Given the description of an element on the screen output the (x, y) to click on. 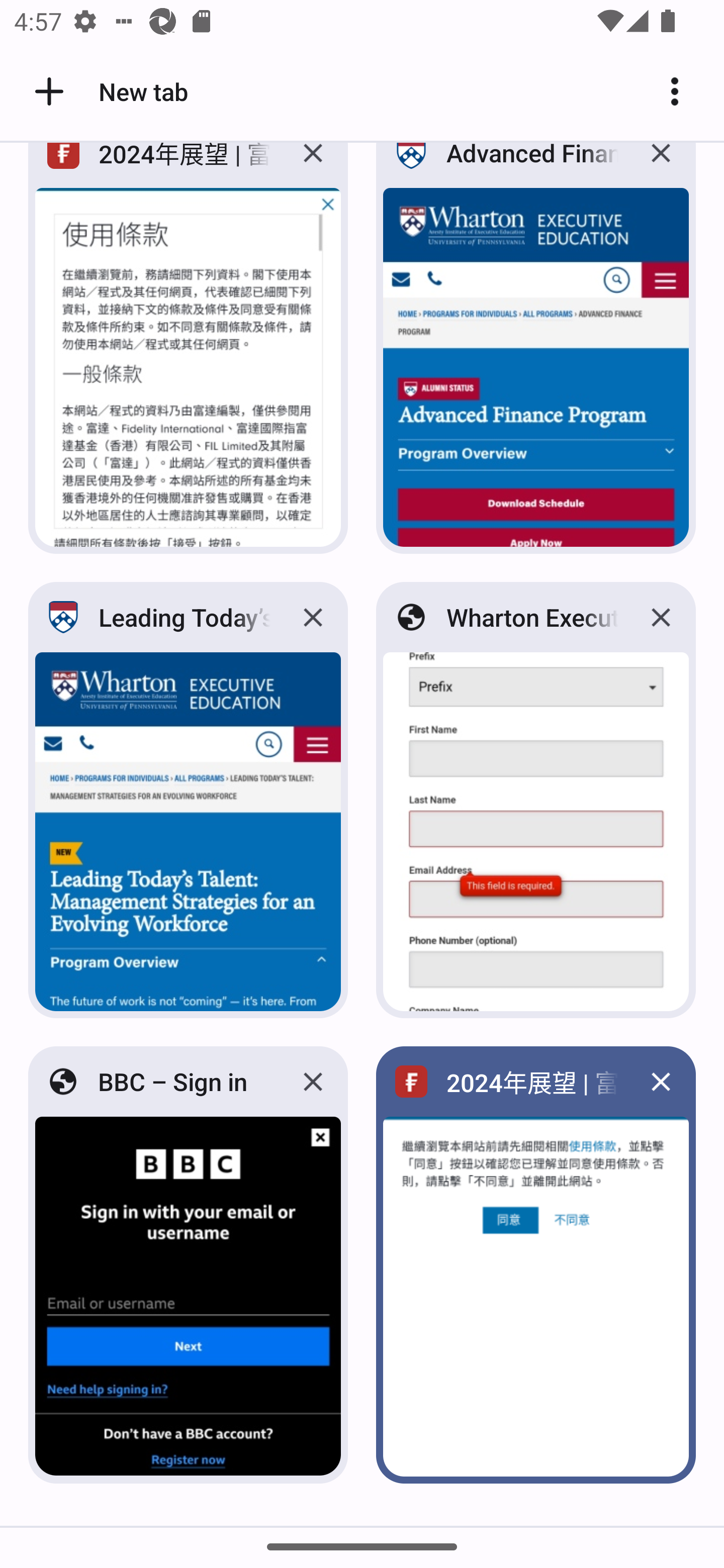
New tab (108, 91)
More options (681, 91)
Close 2024年展望 | 富達香港 tab (312, 167)
Close Wharton Executive Education tab (660, 617)
Close BBC – Sign in tab (312, 1081)
Close 2024年展望 | 富達香港 tab (660, 1081)
